Given the description of an element on the screen output the (x, y) to click on. 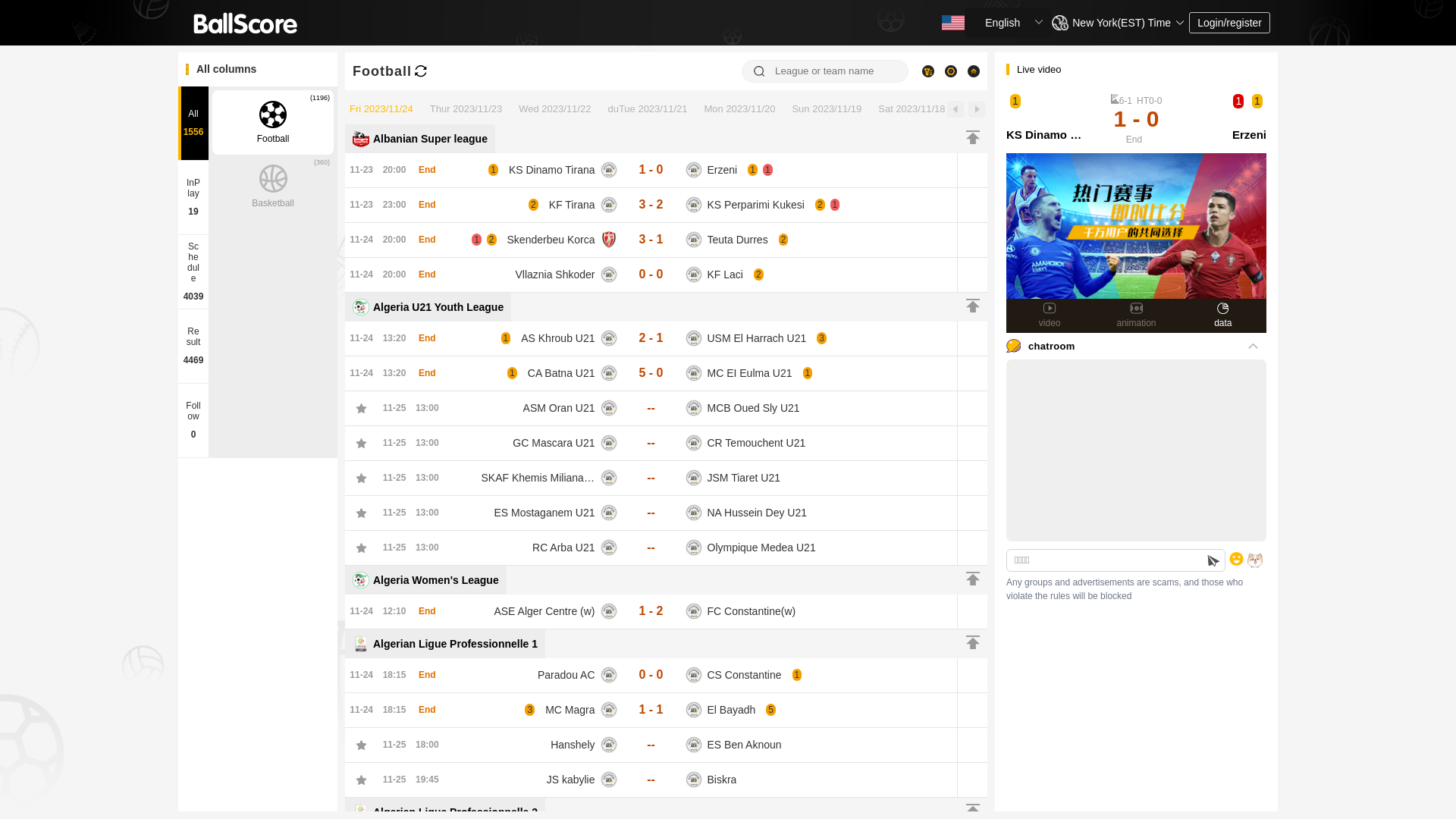
Wed 2023/11/22 Element type: text (554, 109)
Thur 2023/11/23 Element type: text (465, 109)
Sat 2023/11/18 Element type: text (911, 109)
Fri 2023/11/24 Element type: text (381, 109)
Mon 2023/11/20 Element type: text (739, 109)
Sun 2023/11/19 Element type: text (826, 109)
duTue 2023/11/21 Element type: text (646, 109)
